Given the description of an element on the screen output the (x, y) to click on. 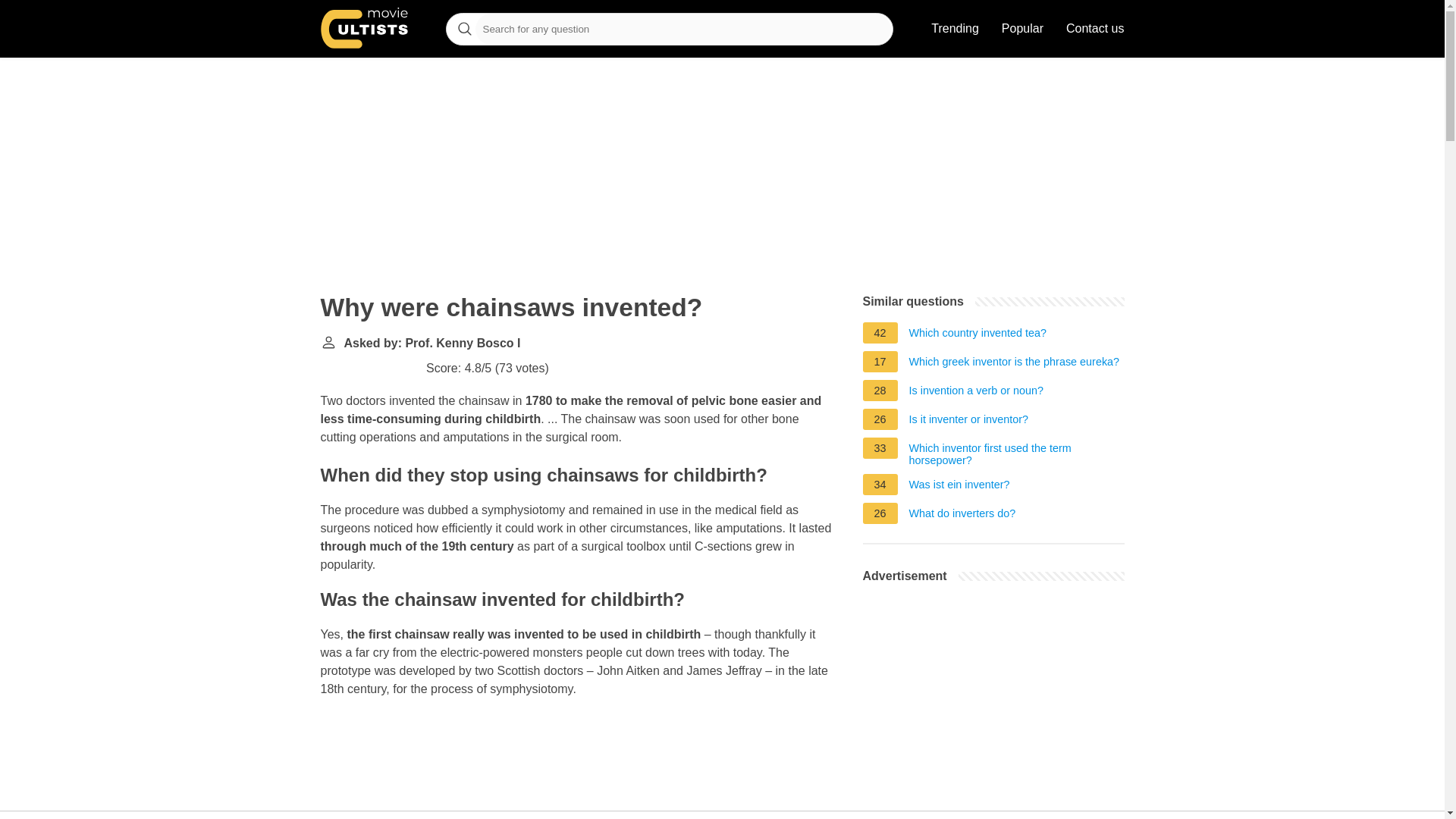
Contact us (1094, 28)
Trending (954, 28)
Was ist ein inventer? (959, 486)
Is invention a verb or noun? (975, 392)
Which inventor first used the term horsepower? (1016, 454)
Popular (1022, 28)
Which country invented tea? (977, 334)
Is it inventer or inventor? (968, 421)
What do inverters do? (962, 515)
Which greek inventor is the phrase eureka? (1013, 363)
